Given the description of an element on the screen output the (x, y) to click on. 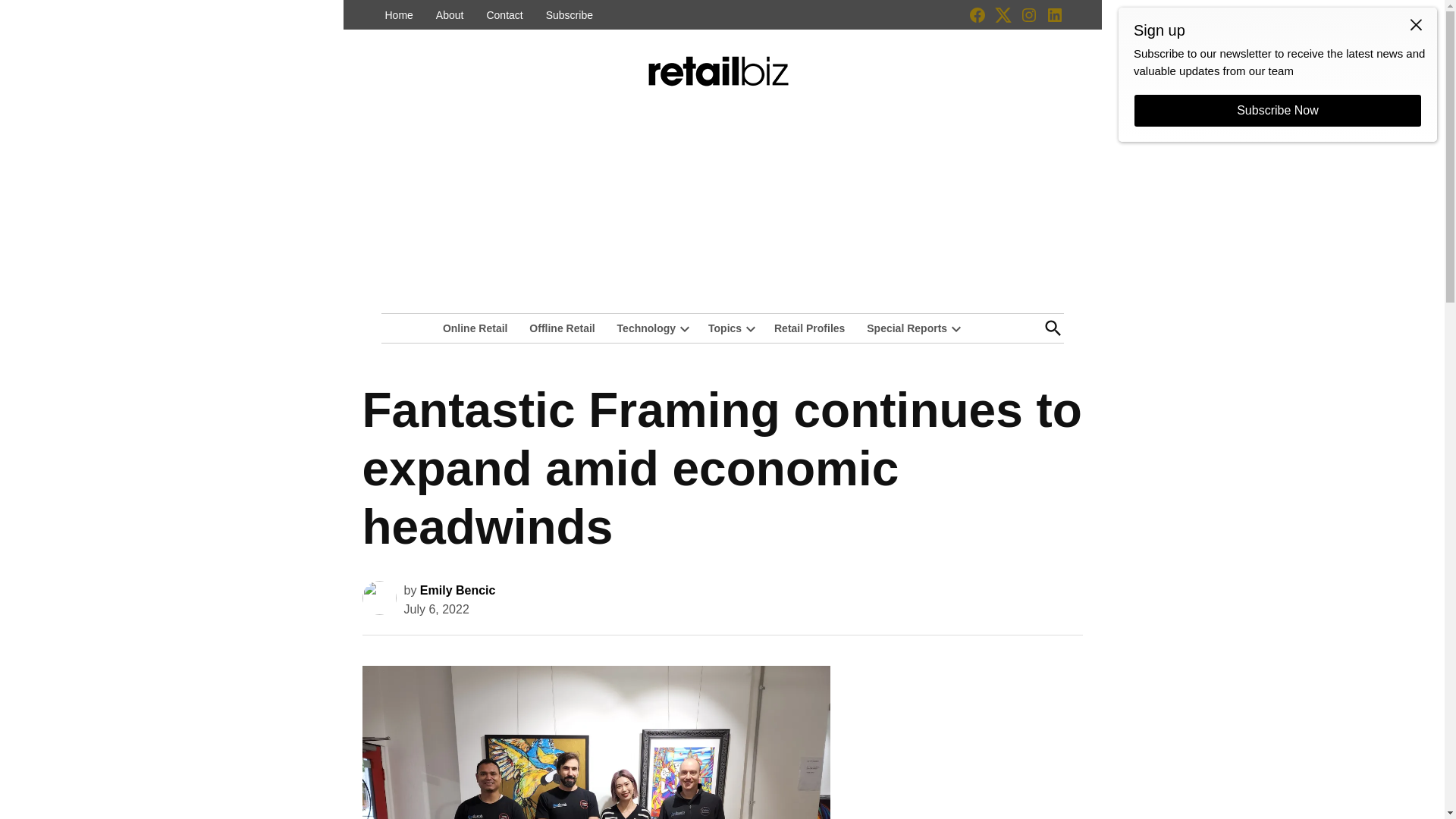
Popup CTA (1277, 74)
3rd party ad content (969, 738)
